Given the description of an element on the screen output the (x, y) to click on. 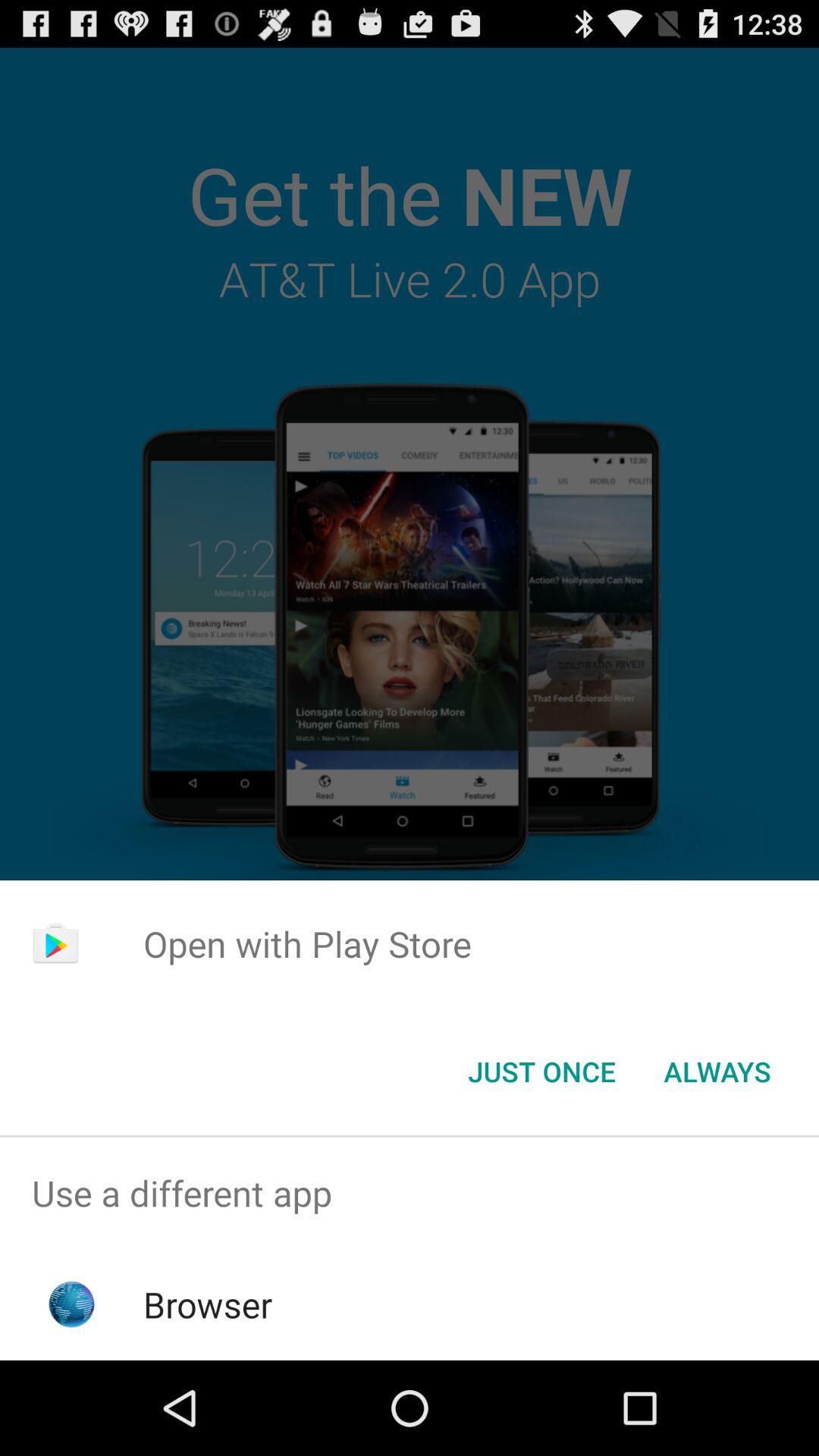
open the always (717, 1071)
